Given the description of an element on the screen output the (x, y) to click on. 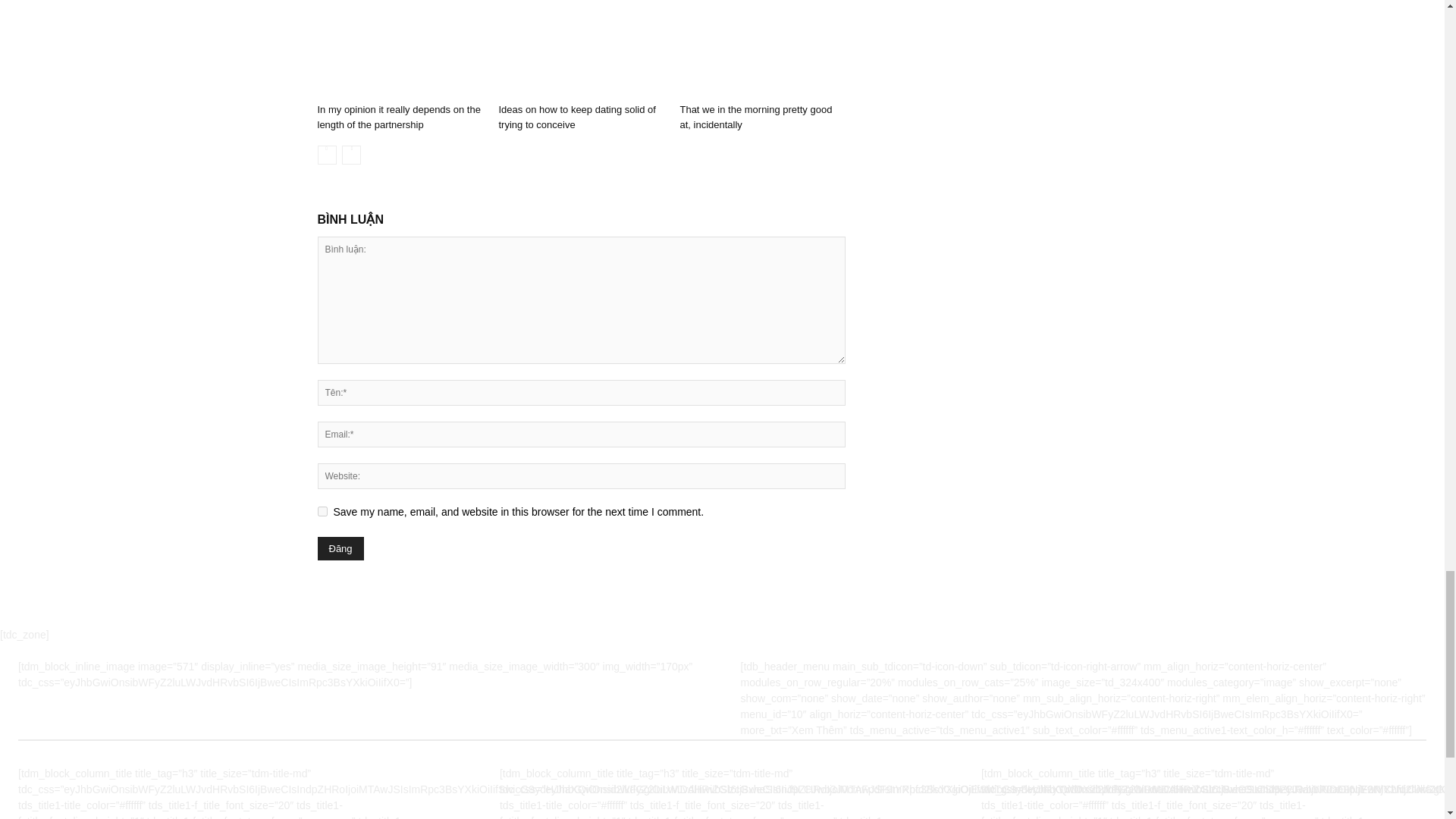
Ideas on how to keep dating solid of trying to conceive (580, 48)
That we in the morning pretty good at, incidentally (755, 117)
That we in the morning pretty good at, incidentally (755, 117)
yes (321, 511)
Ideas on how to keep dating solid of trying to conceive (576, 117)
That we in the morning pretty good at, incidentally (761, 48)
Ideas on how to keep dating solid of trying to conceive (576, 117)
